Given the description of an element on the screen output the (x, y) to click on. 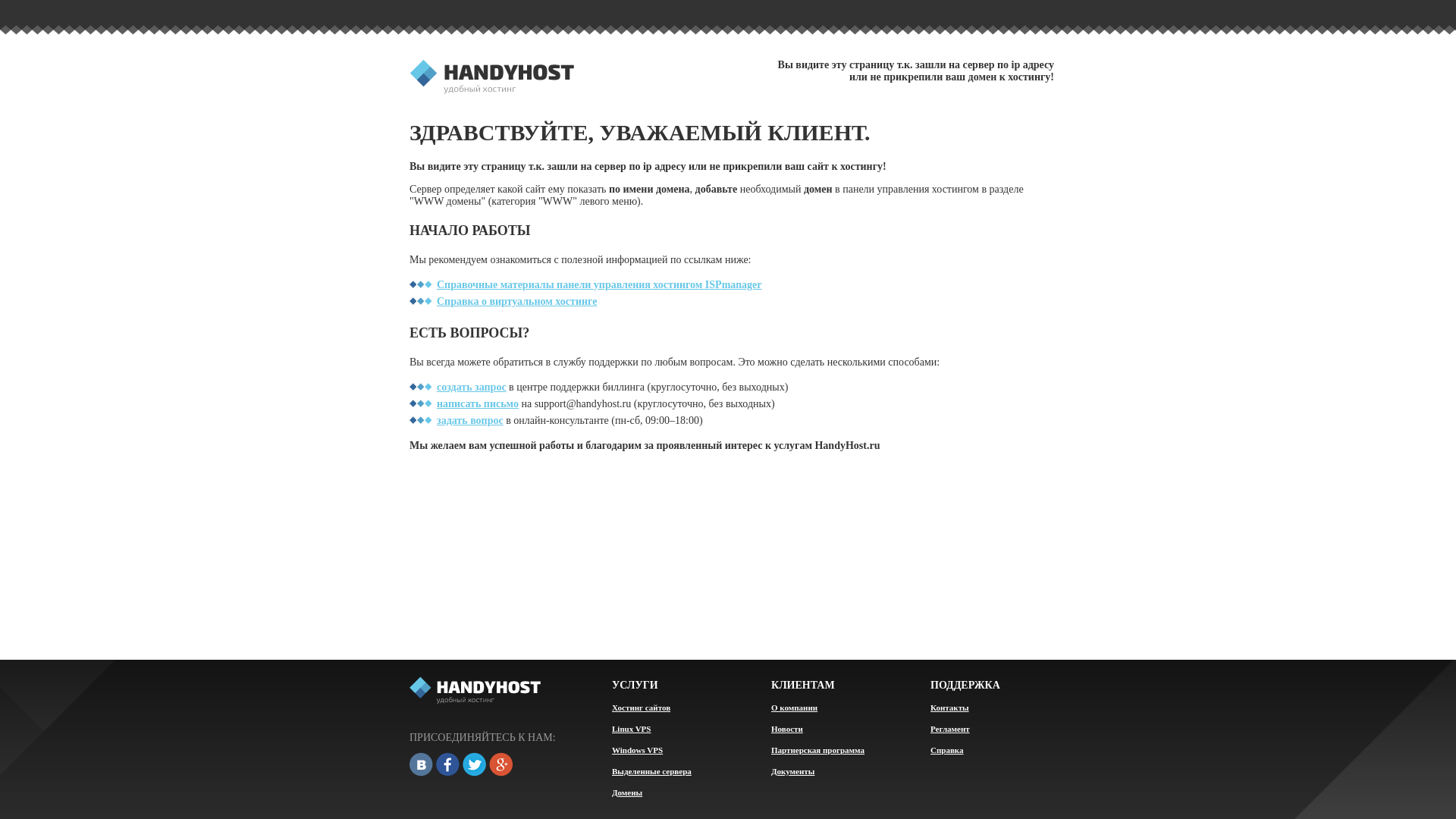
twitter handyhost Element type: hover (474, 765)
Windows VPS Element type: text (636, 749)
Linux VPS Element type: text (630, 728)
HandyHost.ru Element type: hover (491, 78)
